Given the description of an element on the screen output the (x, y) to click on. 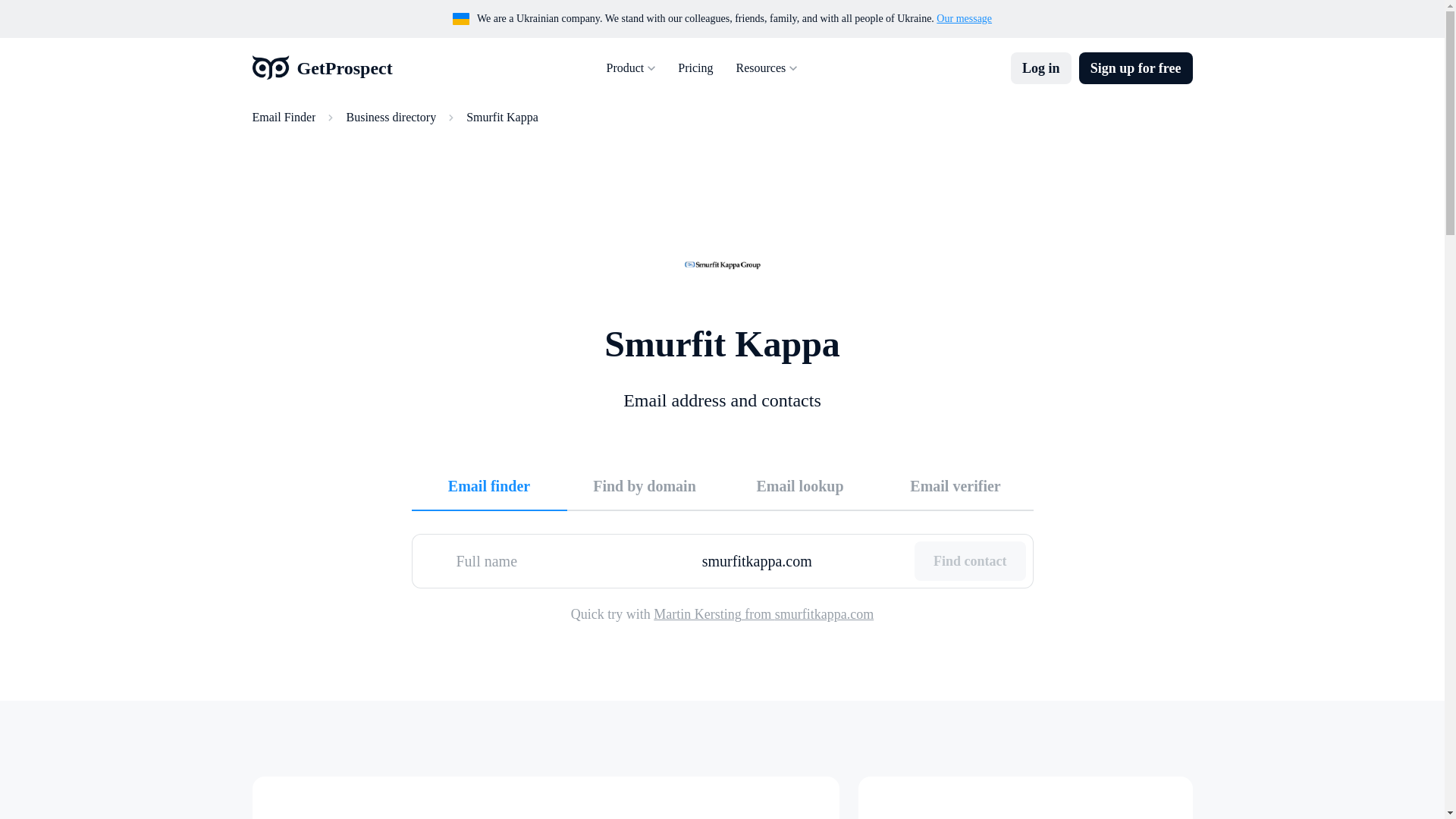
Log in (1040, 68)
smurfitkappa.com (801, 560)
Business directory (390, 117)
Email verifier (955, 485)
Find by domain (644, 485)
Sign up for free (1135, 68)
Email finder (488, 485)
Pricing (694, 68)
Find contact (970, 560)
Email lookup (799, 485)
Email Finder (283, 117)
GetProspect (321, 68)
smurfitkappa.com (801, 560)
Our message (963, 18)
